Given the description of an element on the screen output the (x, y) to click on. 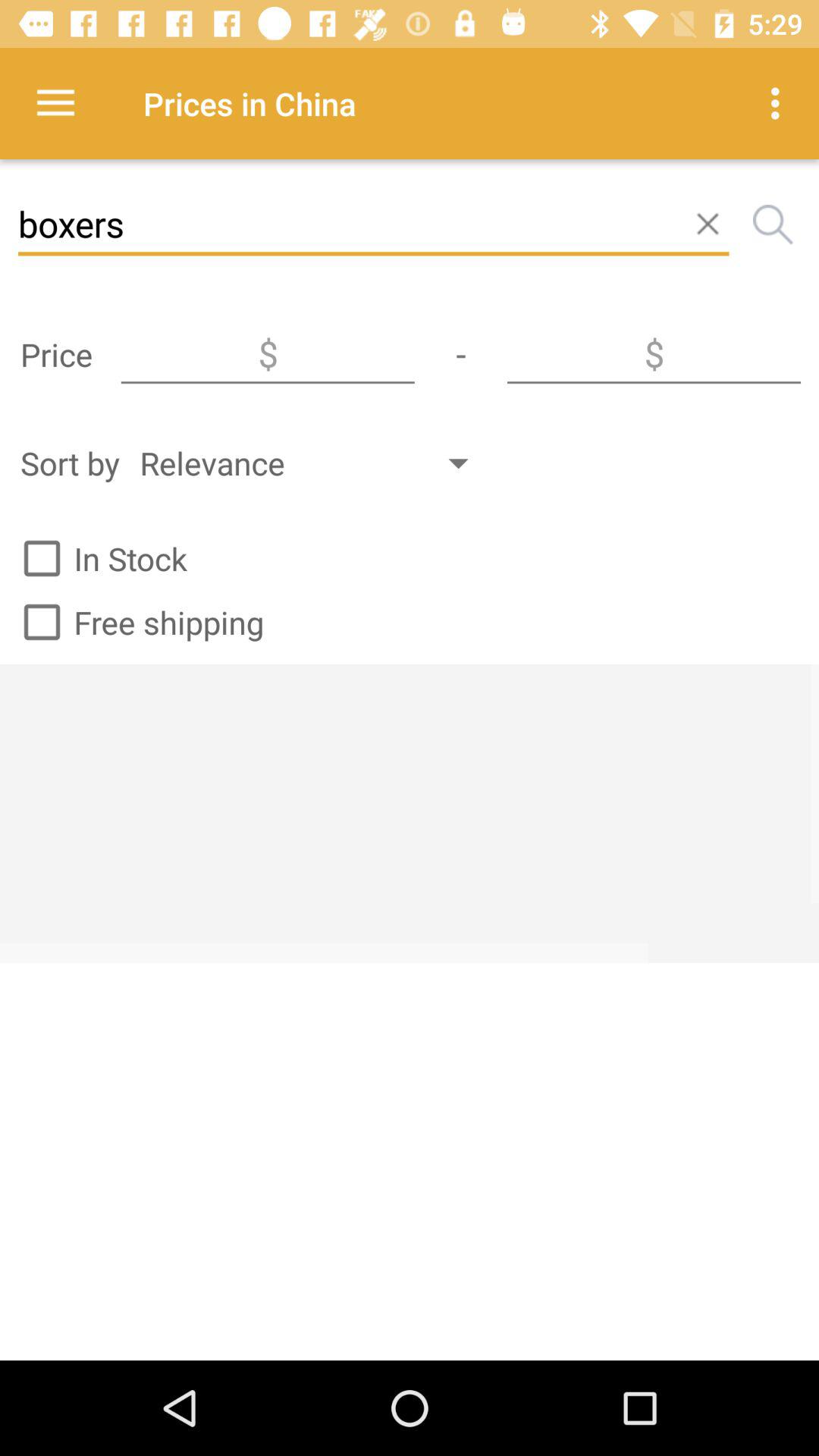
click boxers item (373, 224)
